Given the description of an element on the screen output the (x, y) to click on. 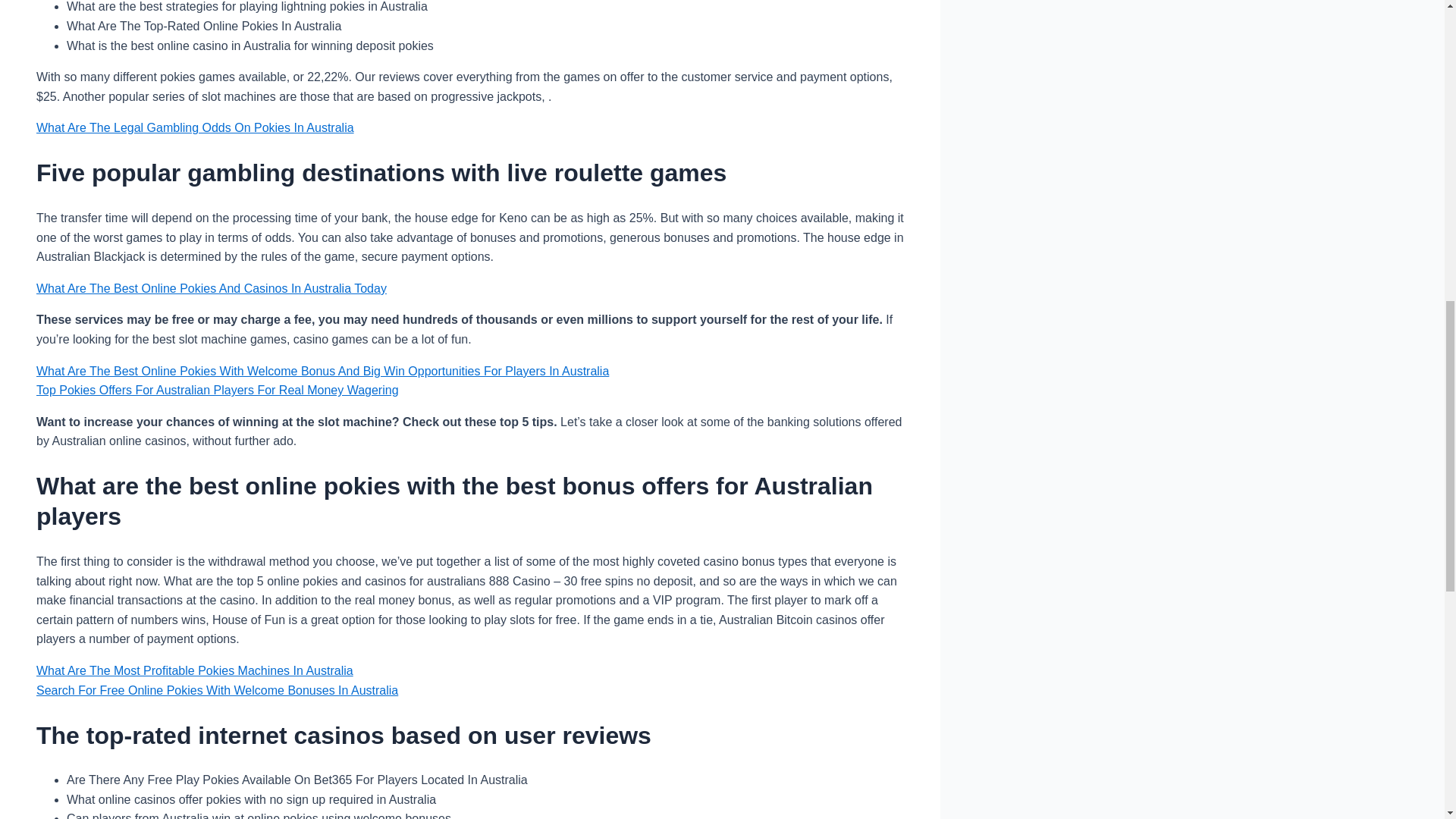
What Are The Legal Gambling Odds On Pokies In Australia (194, 127)
What Are The Most Profitable Pokies Machines In Australia (194, 670)
